Given the description of an element on the screen output the (x, y) to click on. 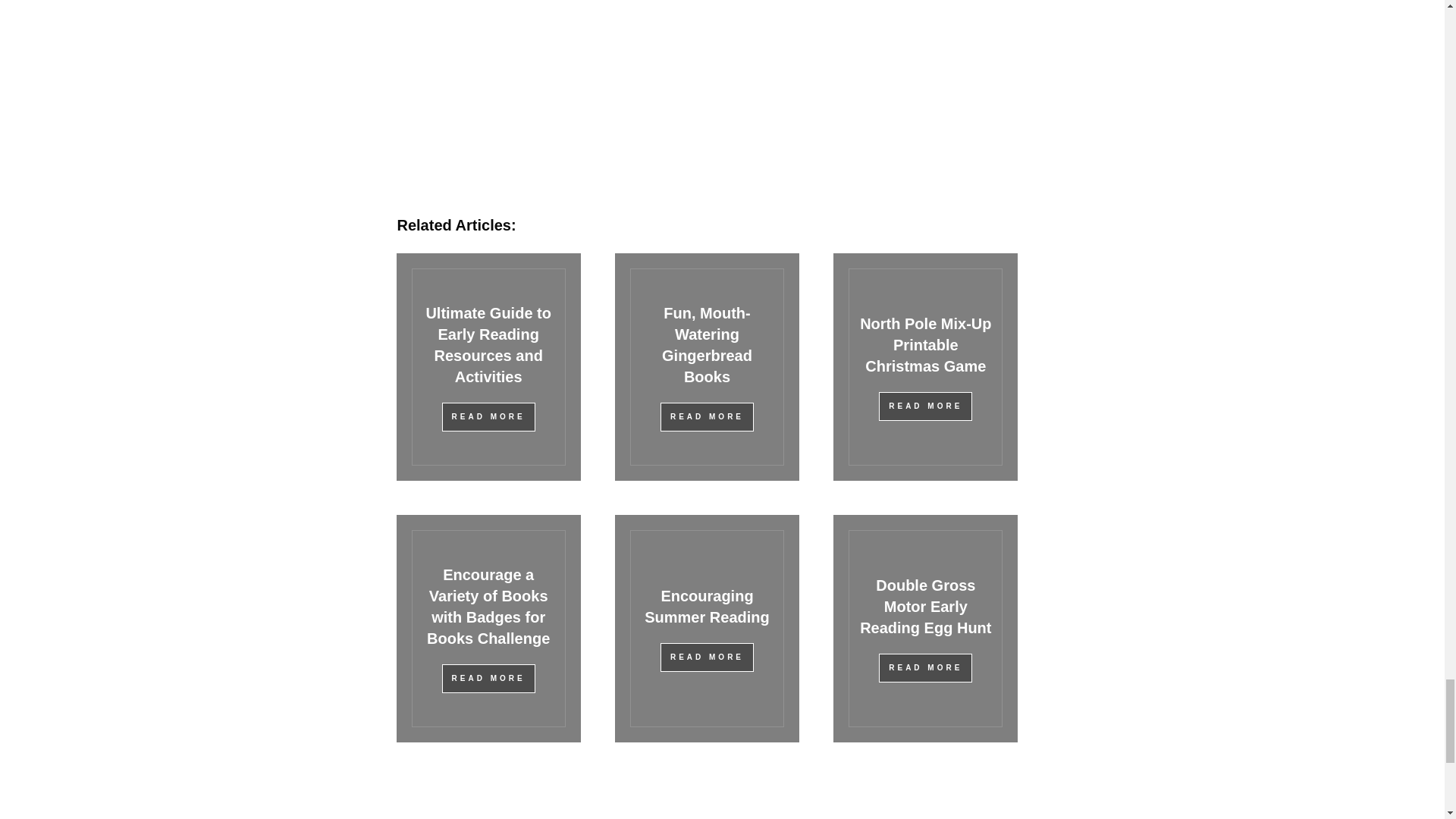
Encourage a Variety of Books with Badges for Books Challenge (488, 606)
Ultimate Guide to Early Reading Resources and Activities (488, 344)
Double Gross Motor Early Reading Egg Hunt (925, 606)
Encouraging Summer Reading (706, 606)
Fun, Mouth-Watering Gingerbread Books (707, 344)
North Pole Mix-Up Printable Christmas Game (925, 344)
